Given the description of an element on the screen output the (x, y) to click on. 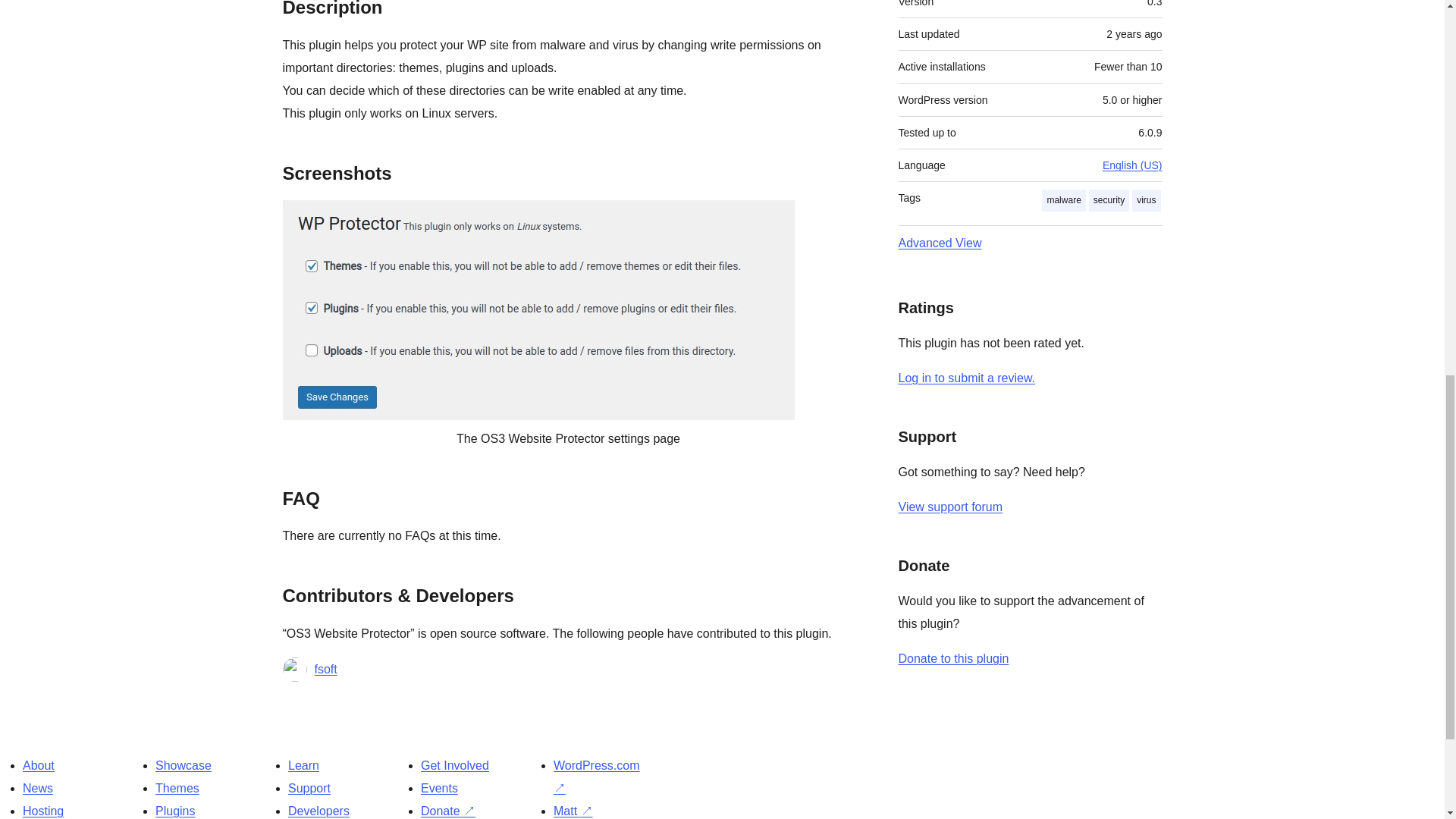
fsoft (325, 669)
Log in to WordPress.org (966, 377)
